Given the description of an element on the screen output the (x, y) to click on. 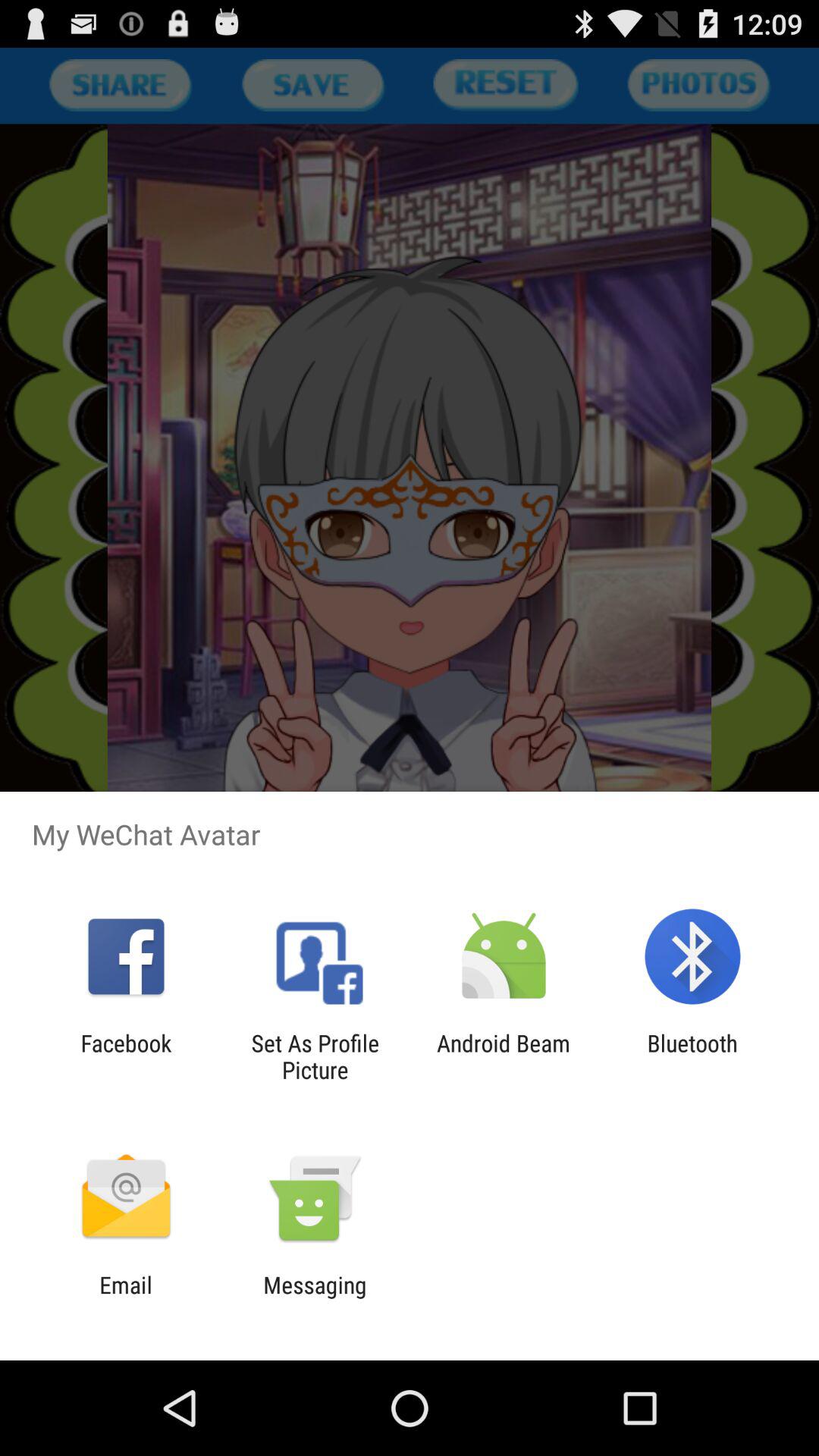
click item to the left of messaging item (125, 1298)
